Given the description of an element on the screen output the (x, y) to click on. 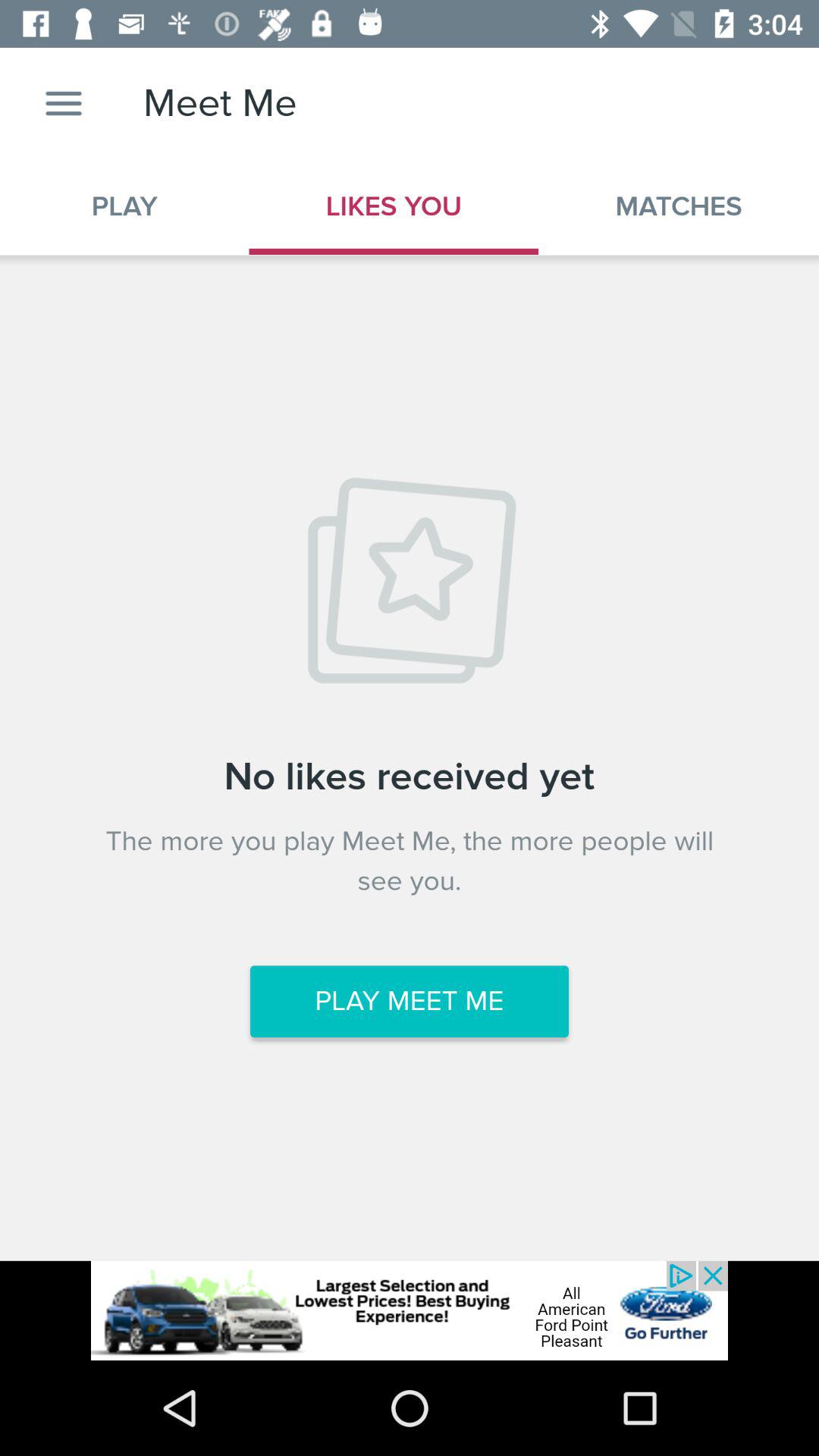
go to setting (63, 103)
